Given the description of an element on the screen output the (x, y) to click on. 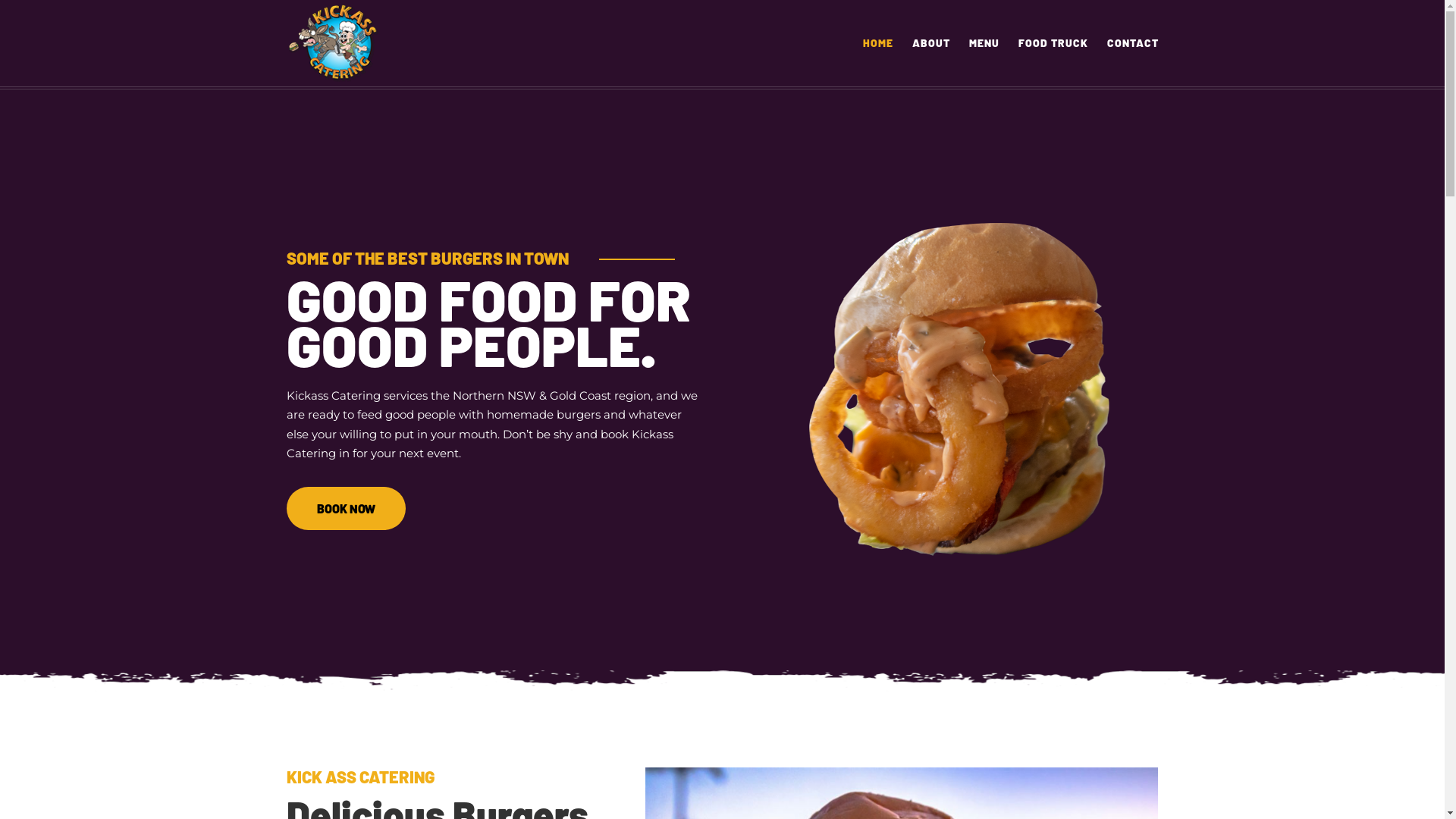
MENU Element type: text (984, 61)
BOOK NOW Element type: text (345, 508)
HOME Element type: text (877, 61)
ABOUT Element type: text (930, 61)
CONTACT Element type: text (1132, 61)
Kickass Catering Burger Element type: hover (956, 389)
FOOD TRUCK Element type: text (1052, 61)
